Given the description of an element on the screen output the (x, y) to click on. 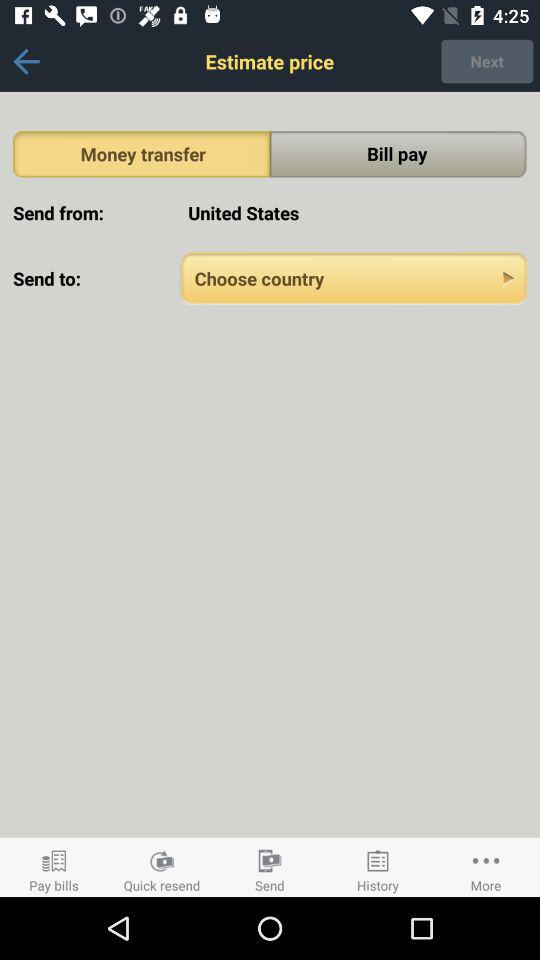
choose the united states icon (353, 212)
